Given the description of an element on the screen output the (x, y) to click on. 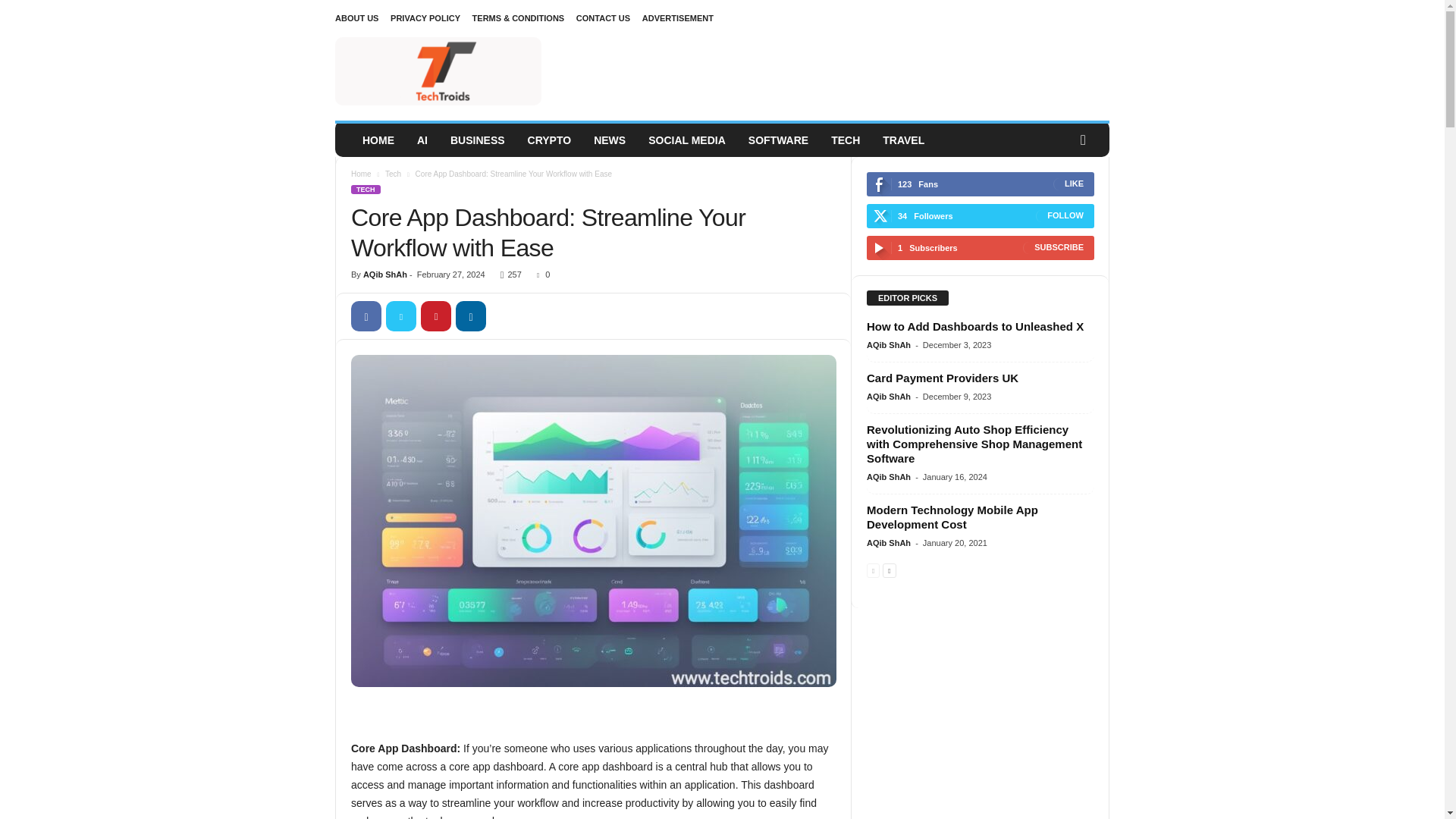
ABOUT US (356, 17)
NEWS (609, 140)
SOCIAL MEDIA (686, 140)
CONTACT US (603, 17)
BUSINESS (477, 140)
Linkedin (470, 316)
TRAVEL (903, 140)
PRIVACY POLICY (425, 17)
Tech (393, 173)
TechTroids (437, 70)
CRYPTO (549, 140)
0 (540, 274)
AQib ShAh (384, 274)
ADVERTISEMENT (677, 17)
